Given the description of an element on the screen output the (x, y) to click on. 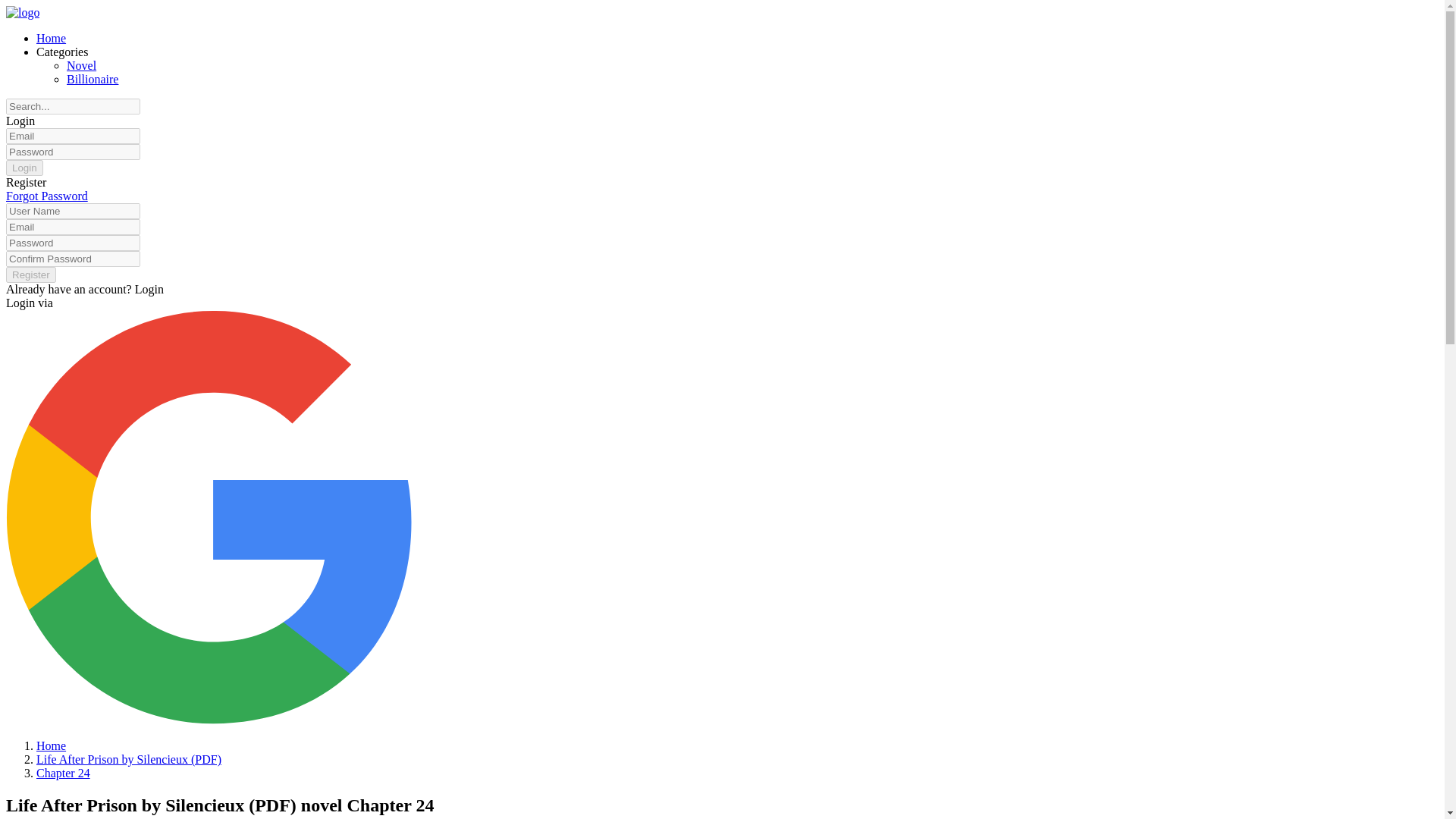
Categories (61, 51)
Forgot Password (46, 195)
Login (19, 120)
Login (149, 288)
Login (24, 167)
Billionaire (91, 78)
Chapter 24 (63, 772)
Register (30, 274)
Novel (81, 65)
Home (50, 38)
Register (25, 182)
Home (50, 745)
Google (208, 719)
